Given the description of an element on the screen output the (x, y) to click on. 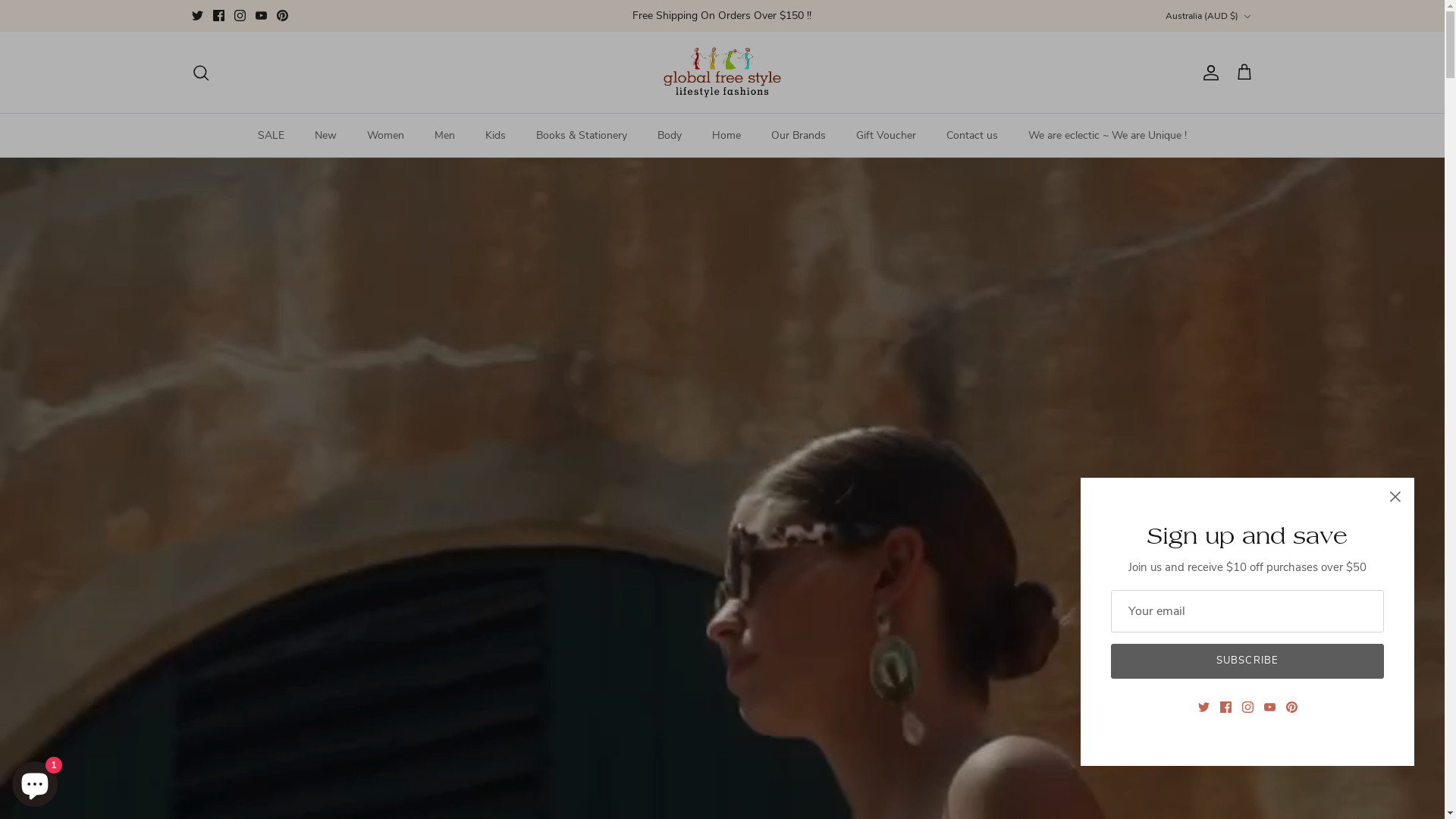
Men Element type: text (444, 134)
SALE Element type: text (271, 134)
New Element type: text (325, 134)
Kids Element type: text (495, 134)
Instagram Element type: text (238, 15)
Twitter Element type: text (196, 15)
Body Element type: text (669, 134)
We are eclectic ~ We are Unique ! Element type: text (1107, 134)
Search Element type: text (200, 72)
Account Element type: text (1207, 72)
Gift Voucher Element type: text (885, 134)
Australia (AUD $)
Down Element type: text (1208, 15)
Women Element type: text (385, 134)
SUBSCRIBE Element type: text (1246, 660)
Global Free Style Element type: hover (722, 72)
Contact us Element type: text (971, 134)
Our Brands Element type: text (798, 134)
Books & Stationery Element type: text (581, 134)
Home Element type: text (726, 134)
Youtube Element type: text (260, 15)
Cart Element type: text (1243, 72)
Shopify online store chat Element type: hover (34, 780)
Pinterest Element type: text (281, 15)
Facebook Element type: text (217, 15)
